Given the description of an element on the screen output the (x, y) to click on. 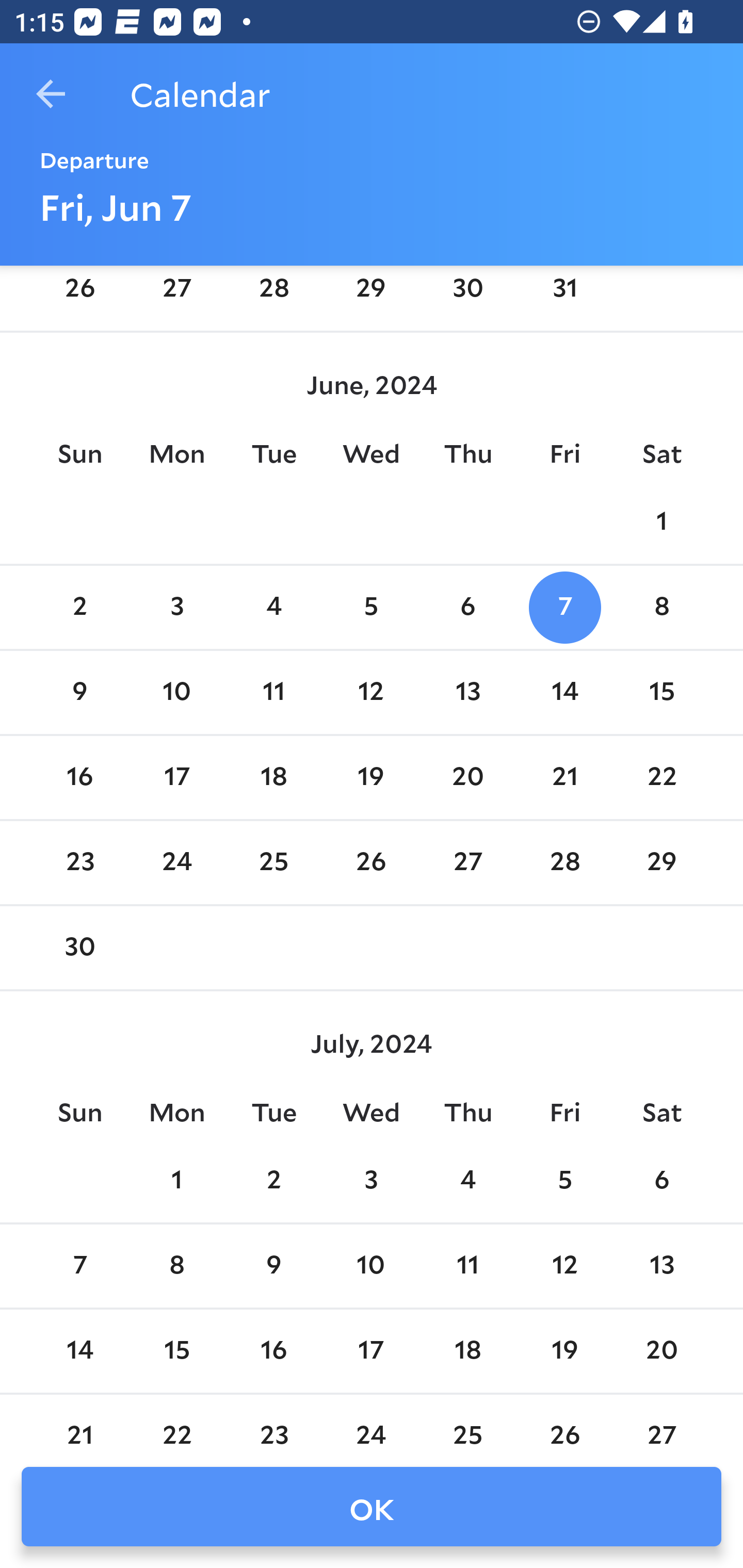
Navigate up (50, 93)
26 (79, 295)
27 (177, 295)
28 (273, 295)
29 (371, 295)
30 (467, 295)
31 (565, 295)
1 (661, 522)
2 (79, 607)
3 (177, 607)
4 (273, 607)
5 (371, 607)
6 (467, 607)
7 (565, 607)
8 (661, 607)
9 (79, 692)
10 (177, 692)
11 (273, 692)
12 (371, 692)
13 (467, 692)
14 (565, 692)
15 (661, 692)
16 (79, 777)
17 (177, 777)
18 (273, 777)
19 (371, 777)
20 (467, 777)
21 (565, 777)
22 (661, 777)
23 (79, 862)
24 (177, 862)
25 (273, 862)
26 (371, 862)
27 (467, 862)
28 (565, 862)
29 (661, 862)
30 (79, 948)
1 (177, 1180)
2 (273, 1180)
3 (371, 1180)
4 (467, 1180)
5 (565, 1180)
6 (661, 1180)
7 (79, 1266)
8 (177, 1266)
9 (273, 1266)
10 (371, 1266)
11 (467, 1266)
12 (565, 1266)
13 (661, 1266)
14 (79, 1351)
15 (177, 1351)
16 (273, 1351)
17 (371, 1351)
18 (467, 1351)
19 (565, 1351)
20 (661, 1351)
21 (79, 1422)
22 (177, 1422)
23 (273, 1422)
24 (371, 1422)
25 (467, 1422)
26 (565, 1422)
27 (661, 1422)
OK (371, 1506)
